Given the description of an element on the screen output the (x, y) to click on. 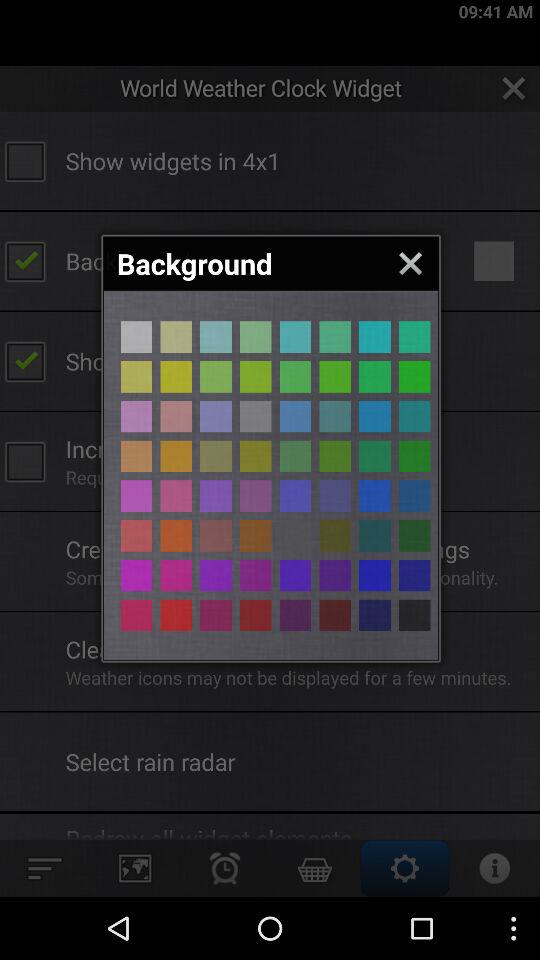
change background color (255, 575)
